Given the description of an element on the screen output the (x, y) to click on. 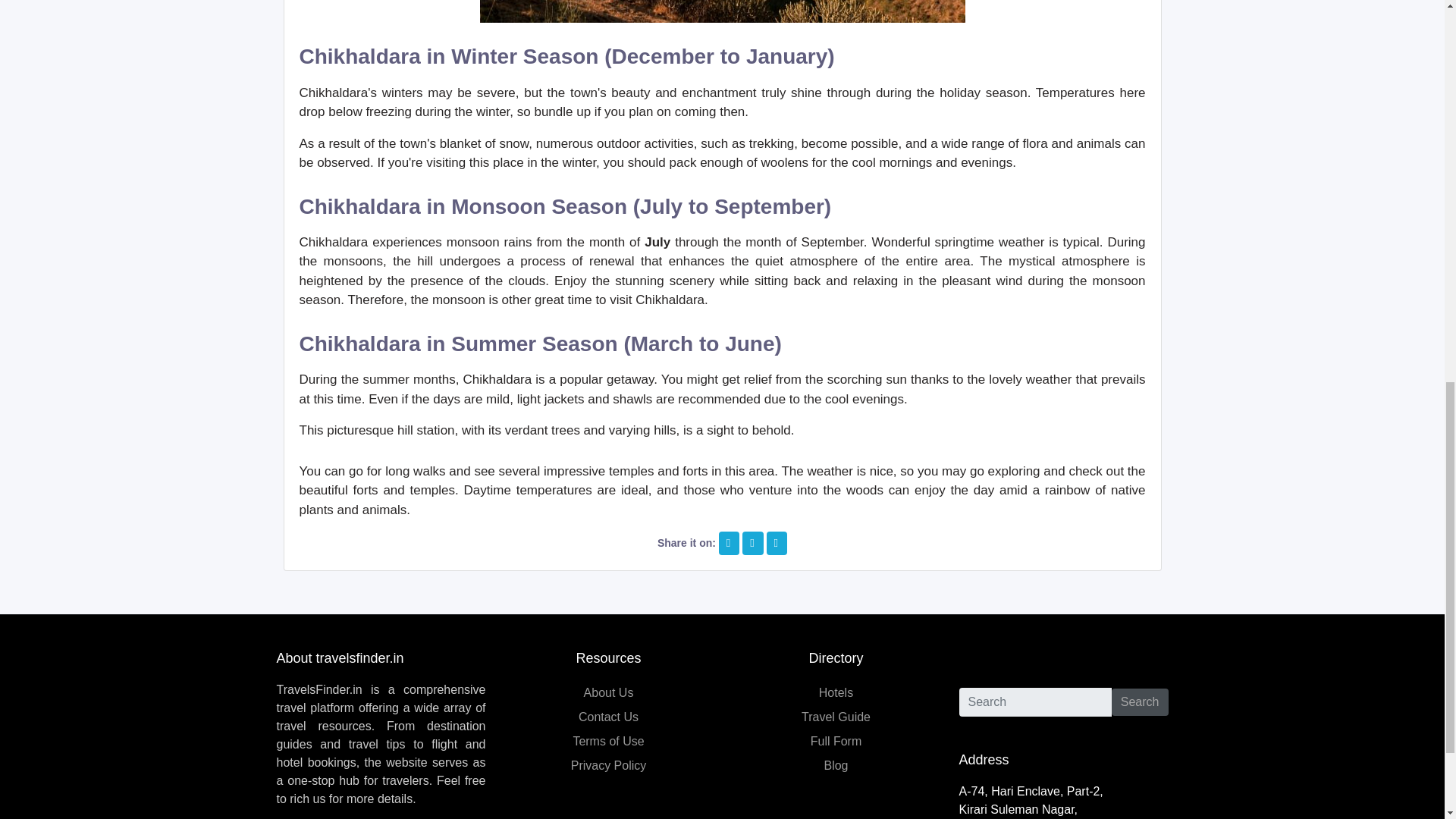
Travel Guide (836, 716)
Contact Us (608, 716)
About Us (608, 692)
Hotels (835, 692)
Full Form (835, 740)
Search (1140, 701)
Privacy Policy (608, 765)
Terms of Use (607, 740)
Blog (835, 765)
